Given the description of an element on the screen output the (x, y) to click on. 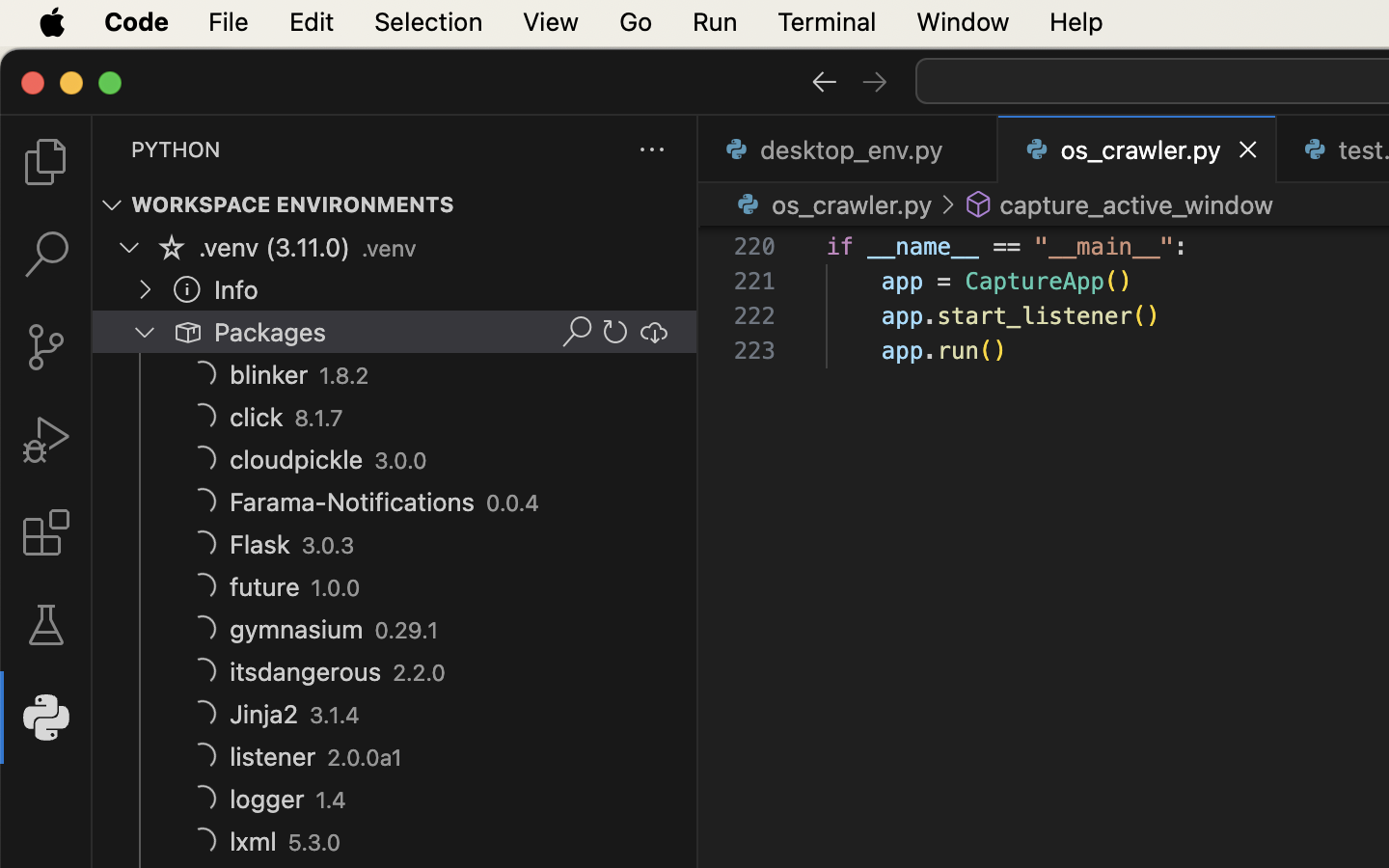
3.0.0 Element type: AXStaticText (401, 460)
blinker Element type: AXStaticText (268, 374)
Info Element type: AXStaticText (236, 289)
1.4 Element type: AXStaticText (331, 799)
lxml Element type: AXStaticText (253, 841)
